Given the description of an element on the screen output the (x, y) to click on. 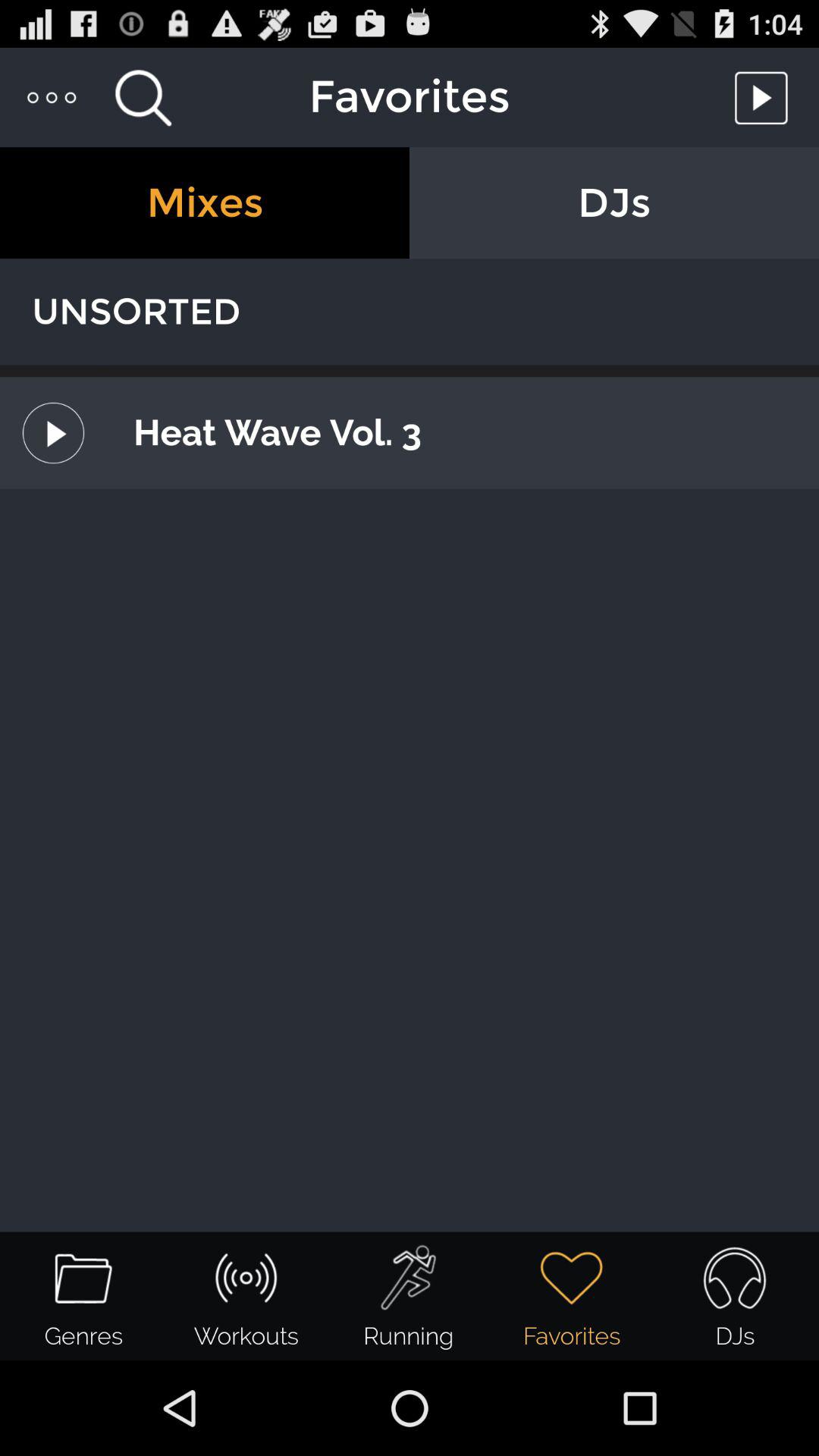
play toggle (765, 97)
